Given the description of an element on the screen output the (x, y) to click on. 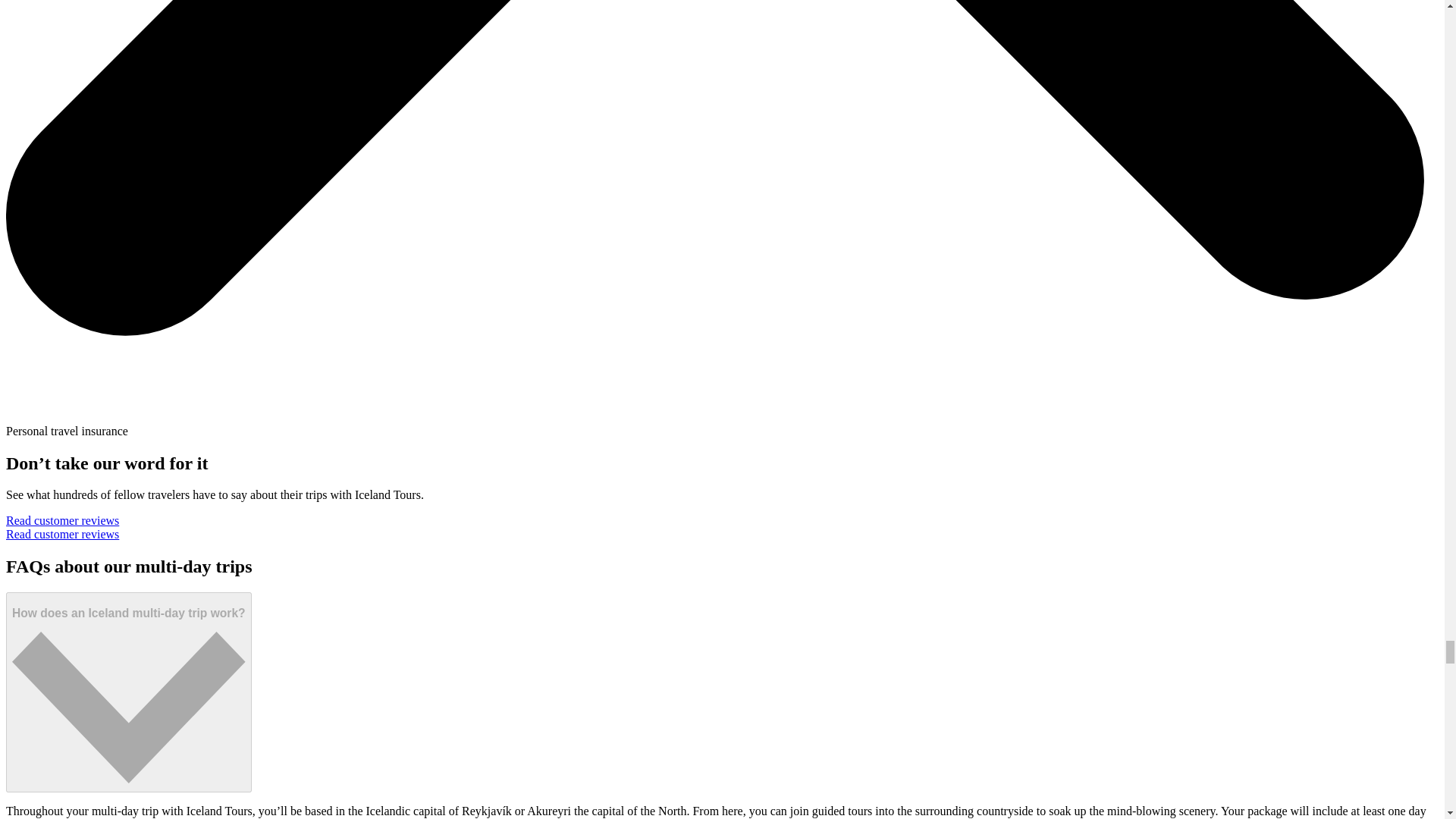
Read more (128, 691)
